Given the description of an element on the screen output the (x, y) to click on. 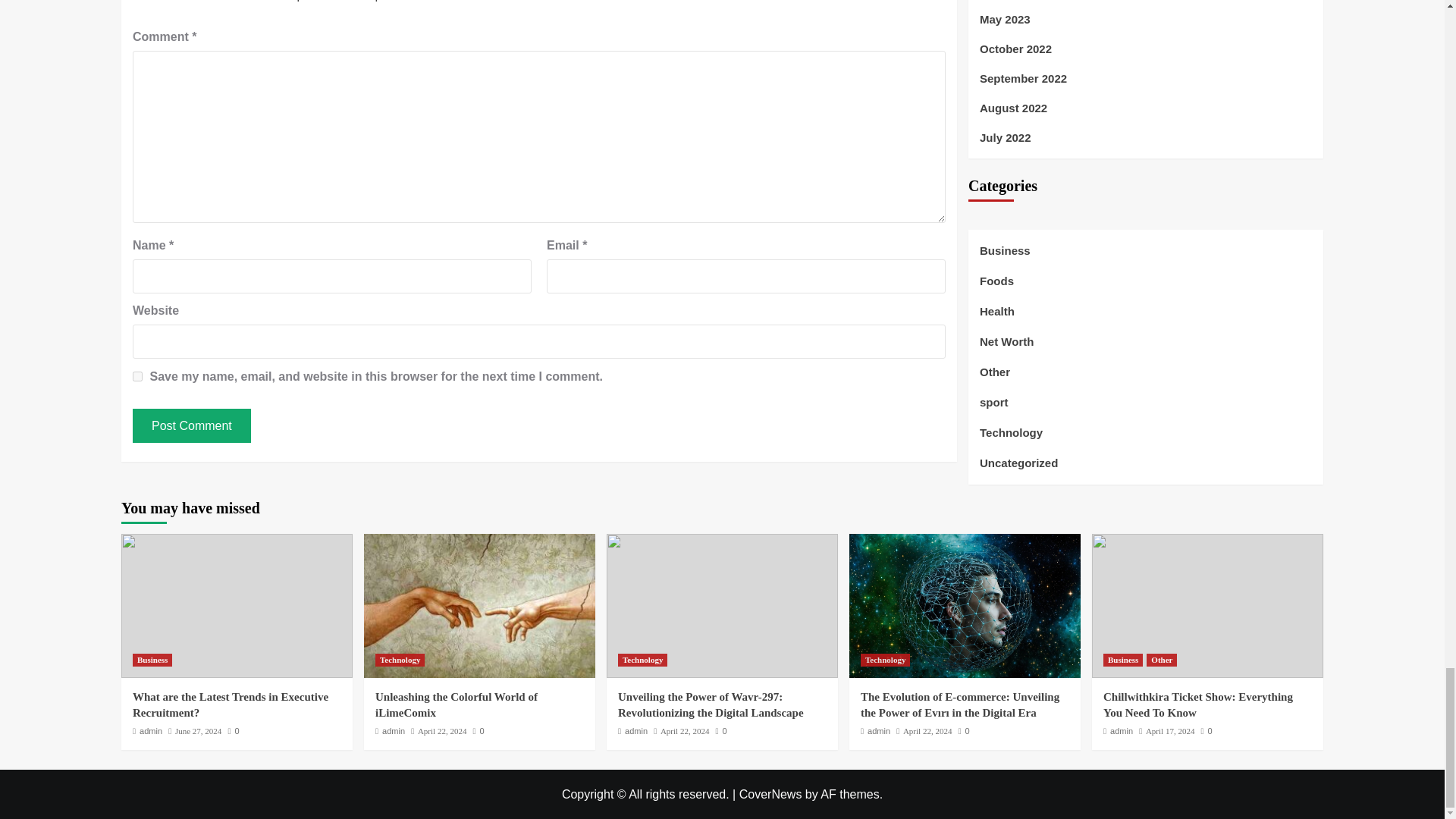
Post Comment (191, 425)
Post Comment (191, 425)
yes (137, 376)
